Given the description of an element on the screen output the (x, y) to click on. 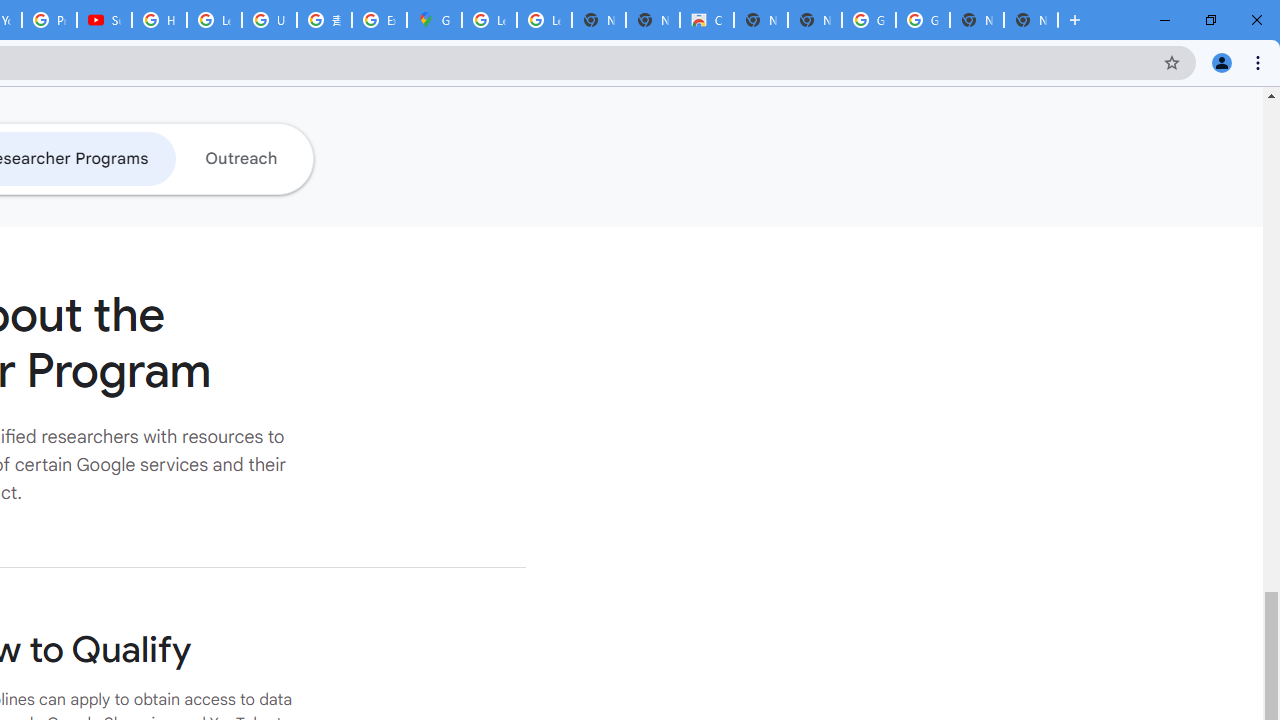
Chrome Web Store (706, 20)
Google Images (868, 20)
Explore new street-level details - Google Maps Help (379, 20)
Outreach (240, 158)
New Tab (1030, 20)
Subscriptions - YouTube (103, 20)
How Chrome protects your passwords - Google Chrome Help (158, 20)
